Given the description of an element on the screen output the (x, y) to click on. 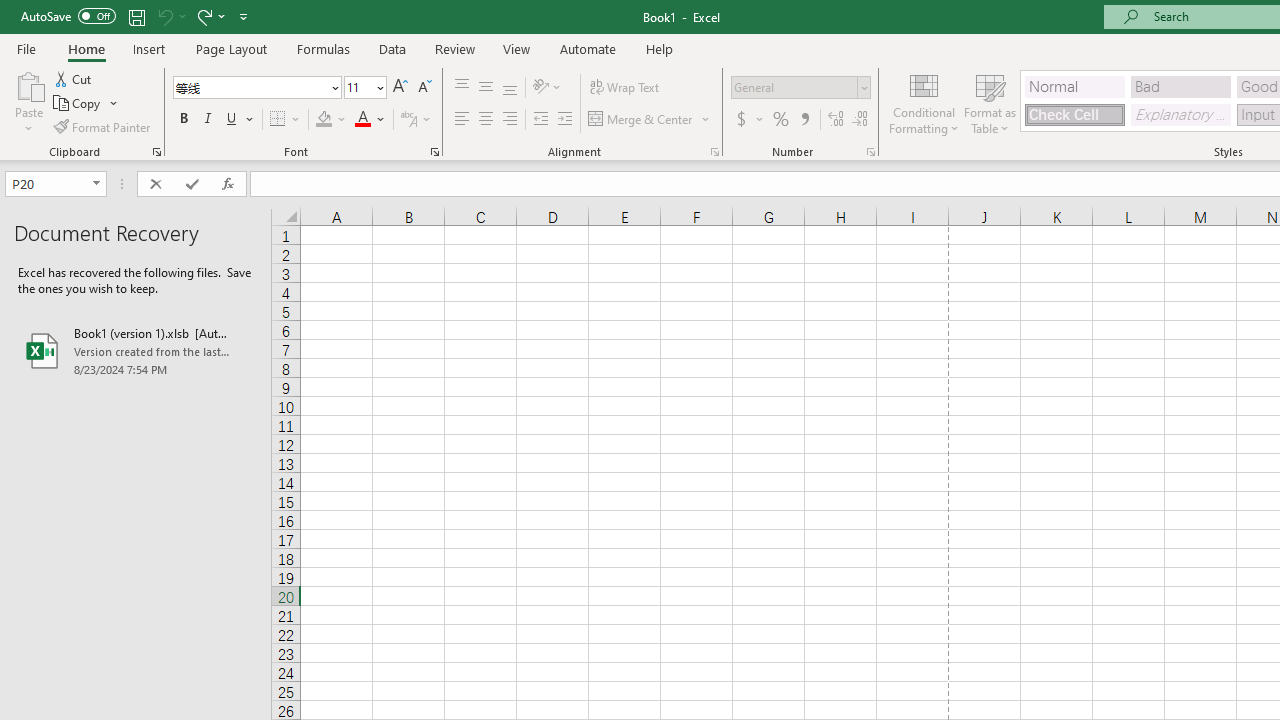
Increase Indent (565, 119)
Paste (28, 84)
Decrease Font Size (424, 87)
Explanatory Text (1180, 114)
Office Clipboard... (156, 151)
Accounting Number Format (741, 119)
Bottom Border (278, 119)
Borders (285, 119)
Number Format (794, 87)
Increase Decimal (836, 119)
Align Left (461, 119)
